Given the description of an element on the screen output the (x, y) to click on. 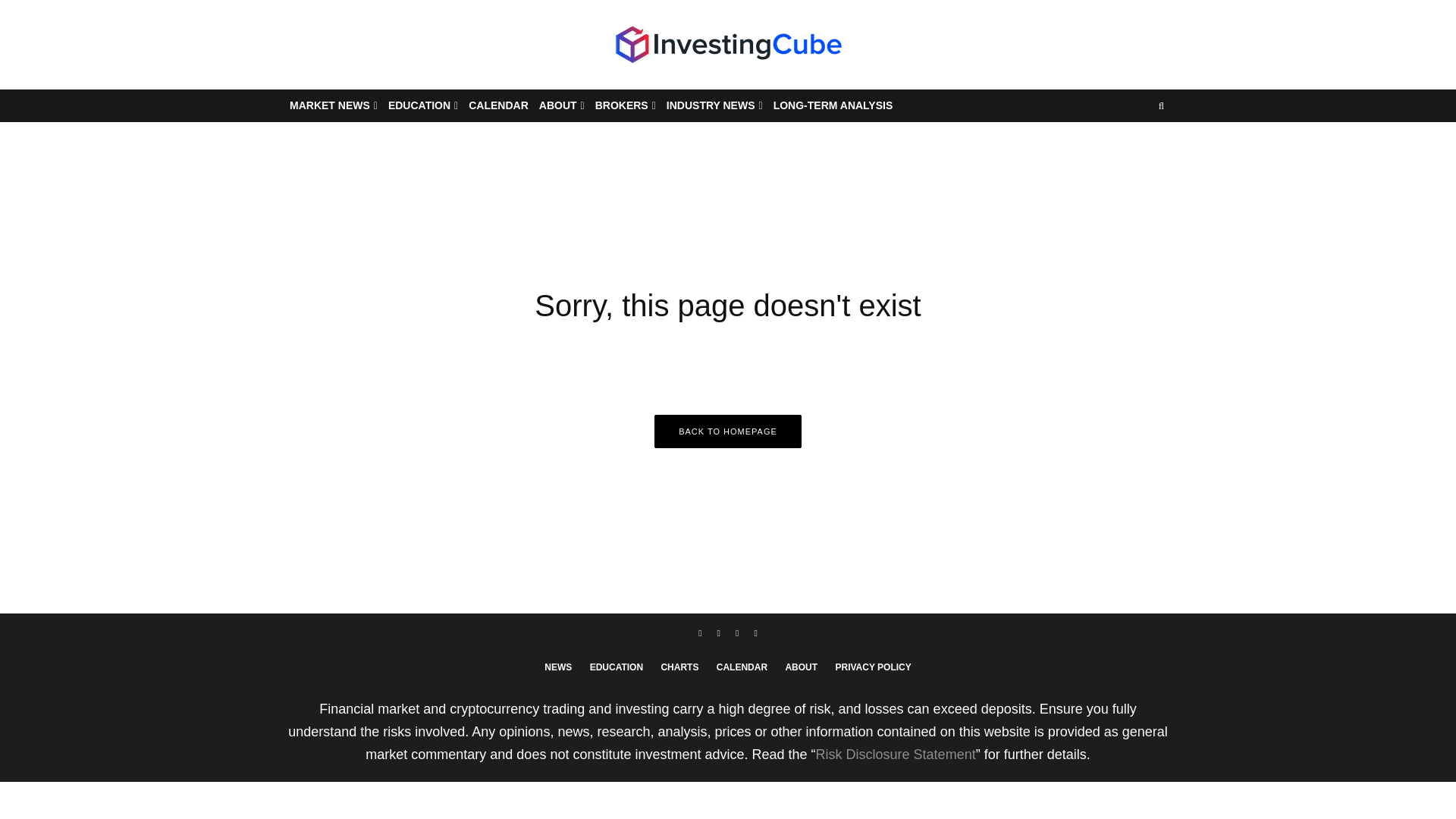
ABOUT (561, 105)
EDUCATION (422, 105)
INDUSTRY NEWS (714, 105)
BACK TO HOMEPAGE (727, 430)
CALENDAR (498, 105)
BROKERS (625, 105)
MARKET NEWS (332, 105)
LONG-TERM ANALYSIS (833, 105)
